Given the description of an element on the screen output the (x, y) to click on. 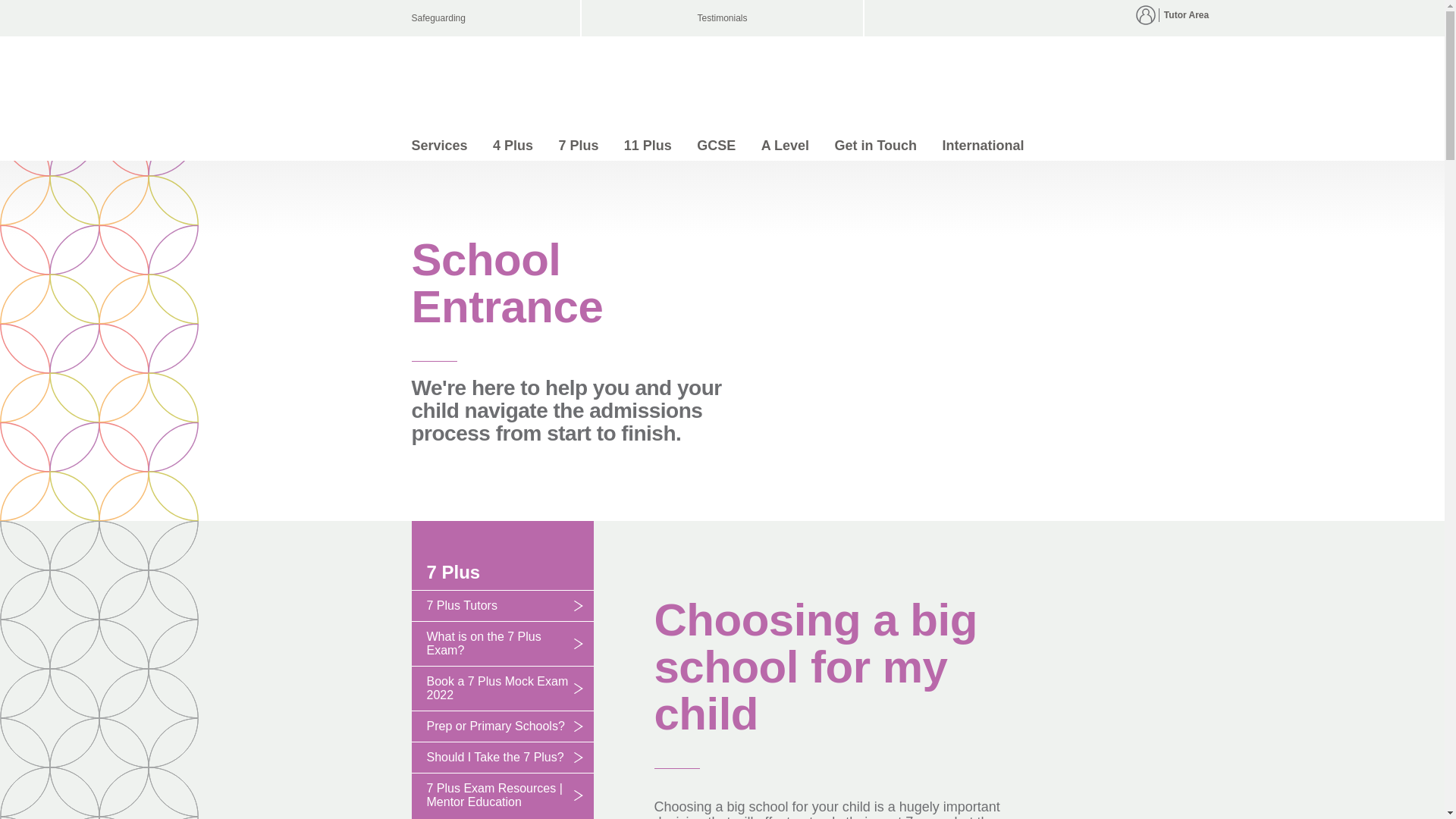
Tutor Area (1185, 15)
4 Plus (512, 145)
Services (438, 145)
Safeguarding (488, 18)
Testimonials (722, 18)
